Given the description of an element on the screen output the (x, y) to click on. 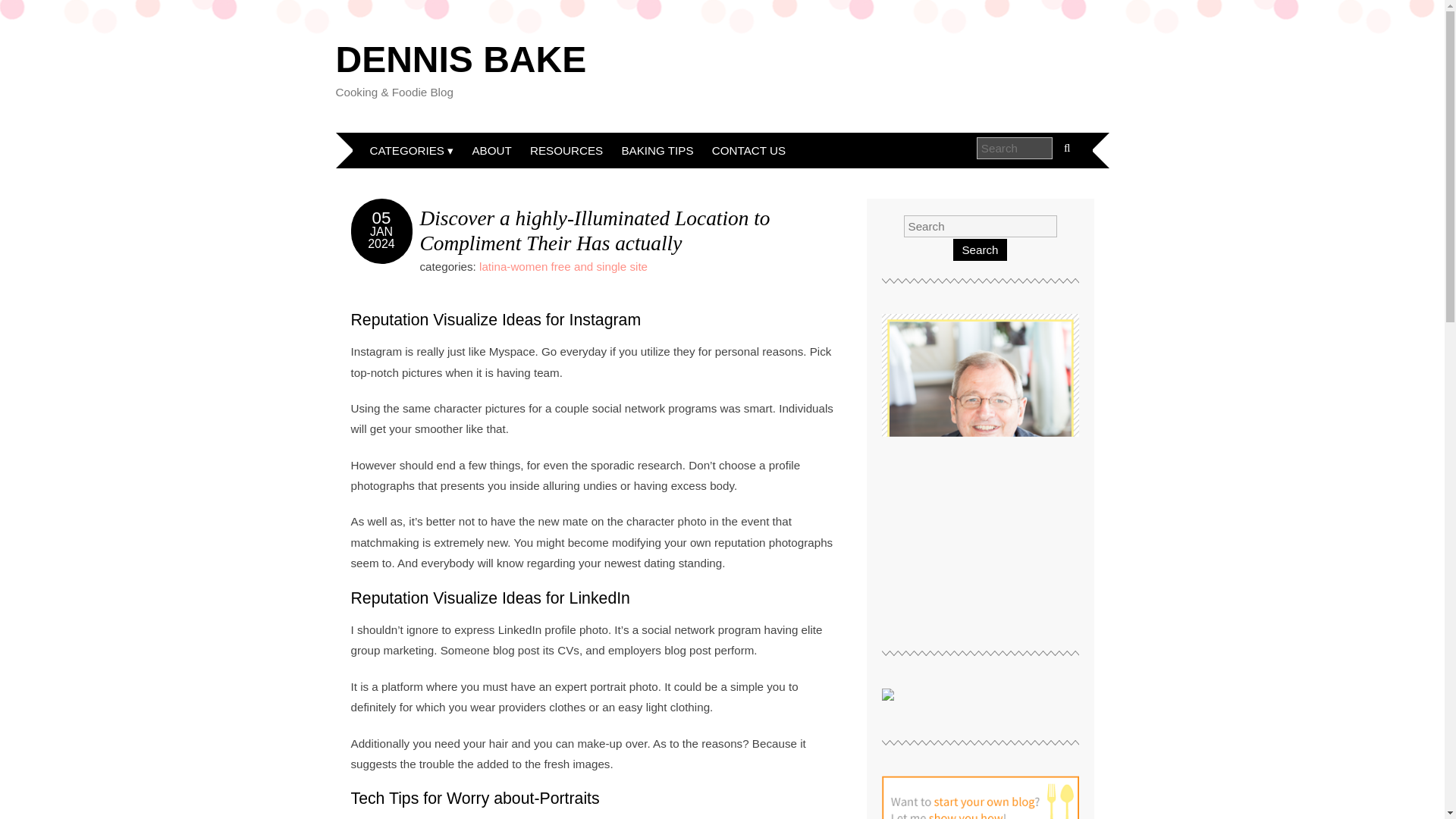
CATEGORIES (411, 150)
CONTACT US (748, 150)
05 (381, 217)
latina-women free and single site (563, 266)
Search (979, 250)
DENNIS BAKE (460, 59)
BAKING TIPS (656, 150)
RESOURCES (566, 150)
ABOUT (491, 150)
